Given the description of an element on the screen output the (x, y) to click on. 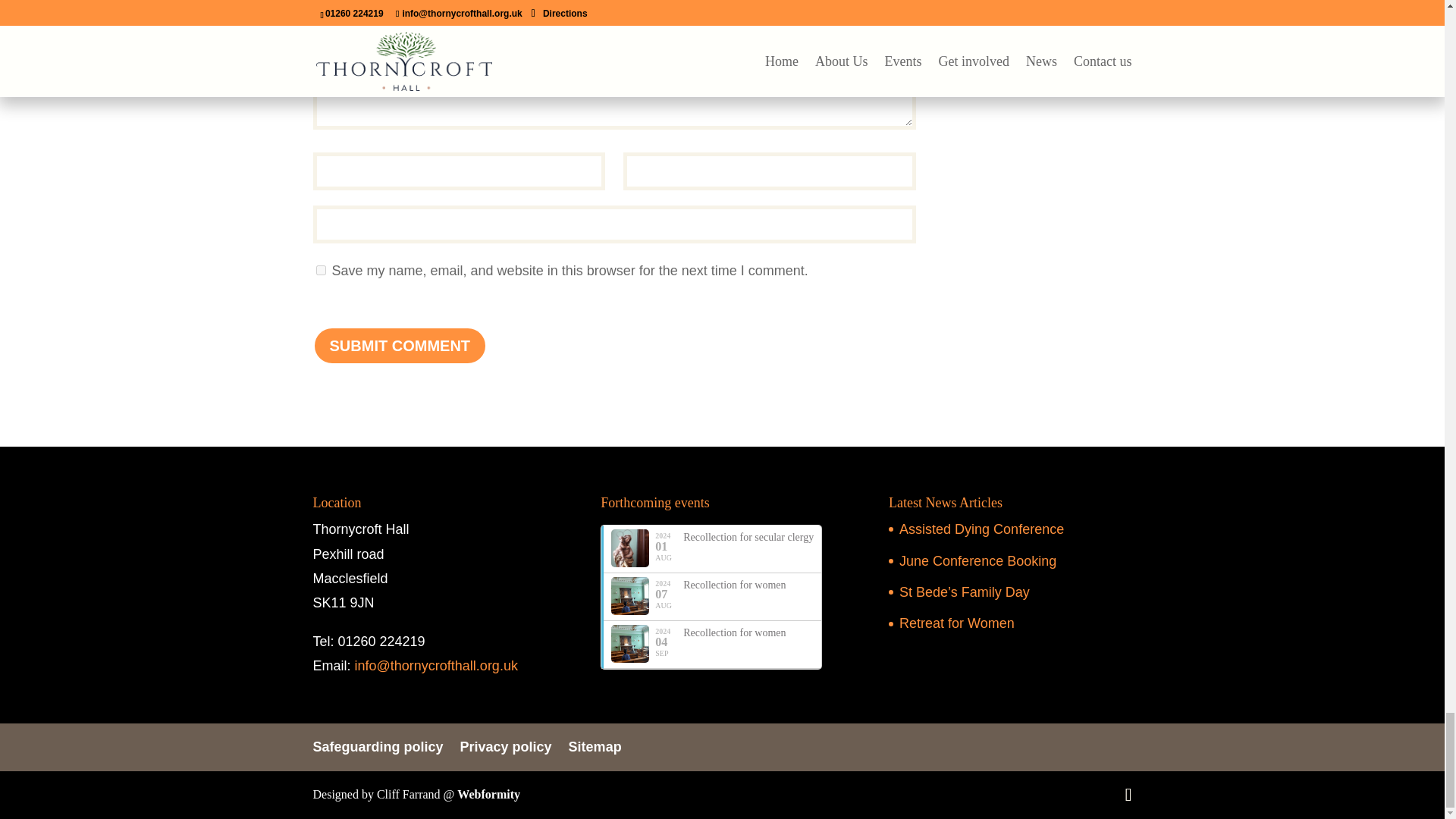
Submit Comment (399, 345)
Submit Comment (399, 345)
yes (319, 270)
